Given the description of an element on the screen output the (x, y) to click on. 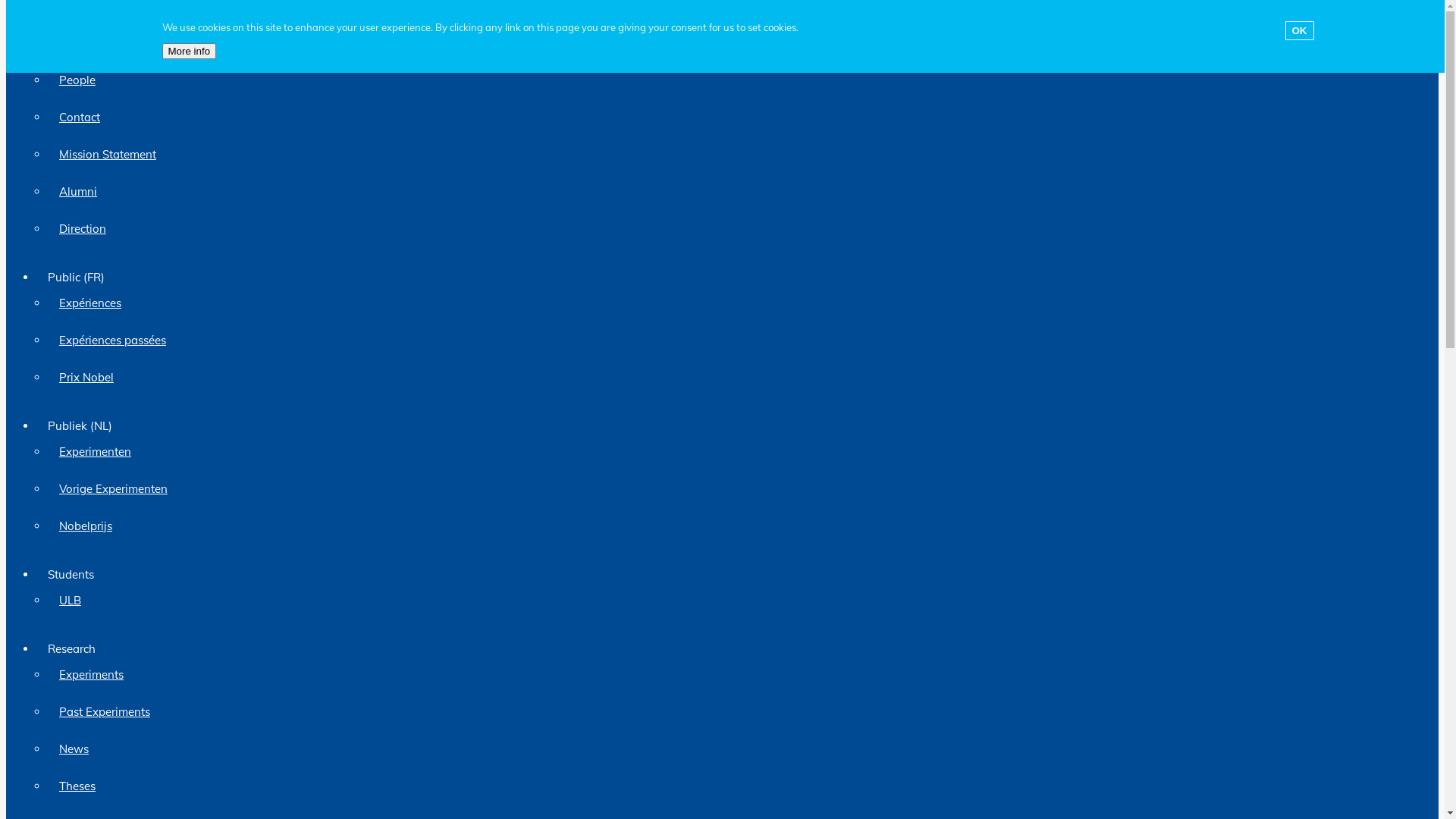
ULB Element type: text (737, 600)
People Element type: text (737, 79)
Experimenten Element type: text (737, 451)
Past Experiments Element type: text (737, 711)
Skip to main content Element type: text (70, 6)
Alumni Element type: text (737, 191)
Theses Element type: text (737, 785)
Nobelprijs Element type: text (737, 525)
Mission Statement Element type: text (737, 154)
Direction Element type: text (737, 228)
Contact Element type: text (737, 116)
Prix Nobel Element type: text (737, 377)
More info Element type: text (189, 51)
Experiments Element type: text (737, 674)
Vorige Experimenten Element type: text (737, 488)
Toggle navigation Element type: text (51, 16)
News Element type: text (737, 748)
OK Element type: text (1298, 30)
